Given the description of an element on the screen output the (x, y) to click on. 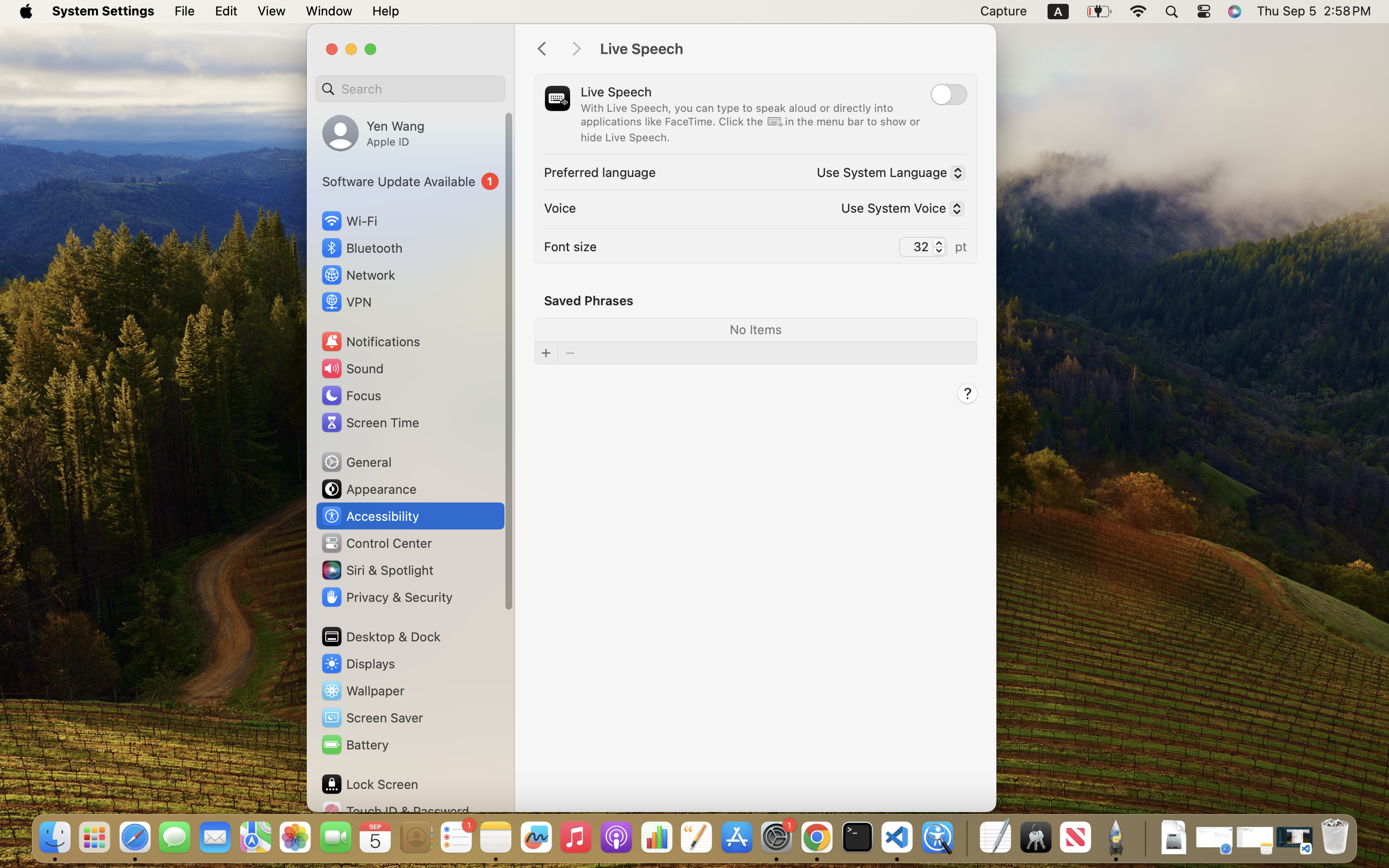
Touch ID & Password Element type: AXStaticText (394, 810)
Accessibility Element type: AXStaticText (369, 515)
Yen Wang, Apple ID Element type: AXStaticText (373, 132)
Desktop & Dock Element type: AXStaticText (380, 636)
32.0 Element type: AXIncrementor (938, 246)
